Given the description of an element on the screen output the (x, y) to click on. 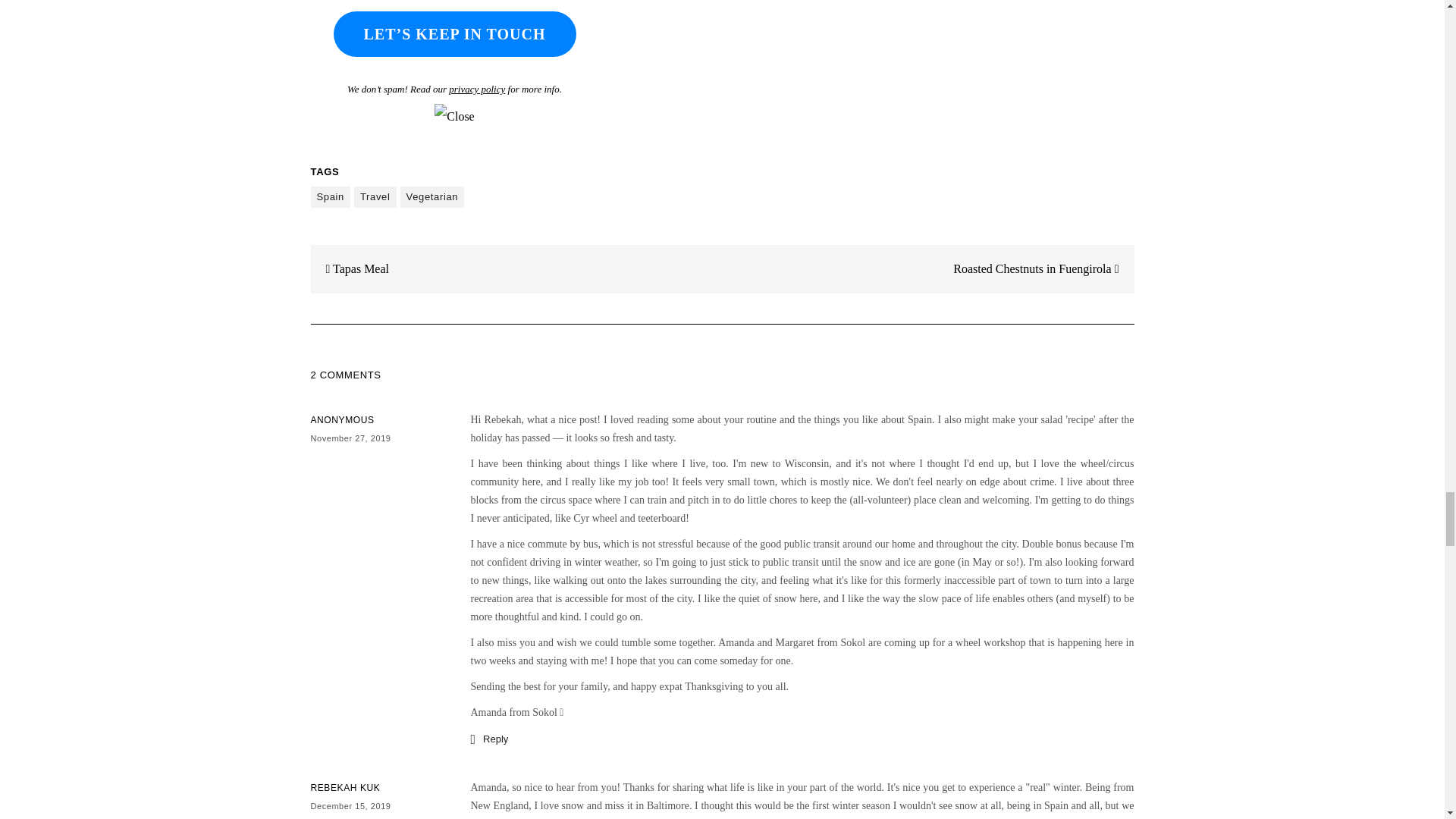
privacy policy (476, 89)
Tapas Meal (350, 268)
November 27, 2019 (351, 438)
REBEKAH KUK (345, 787)
Vegetarian (432, 197)
December 15, 2019 (351, 805)
Travel (374, 197)
Roasted Chestnuts in Fuengirola (1043, 268)
Reply (489, 738)
Spain (330, 197)
